Given the description of an element on the screen output the (x, y) to click on. 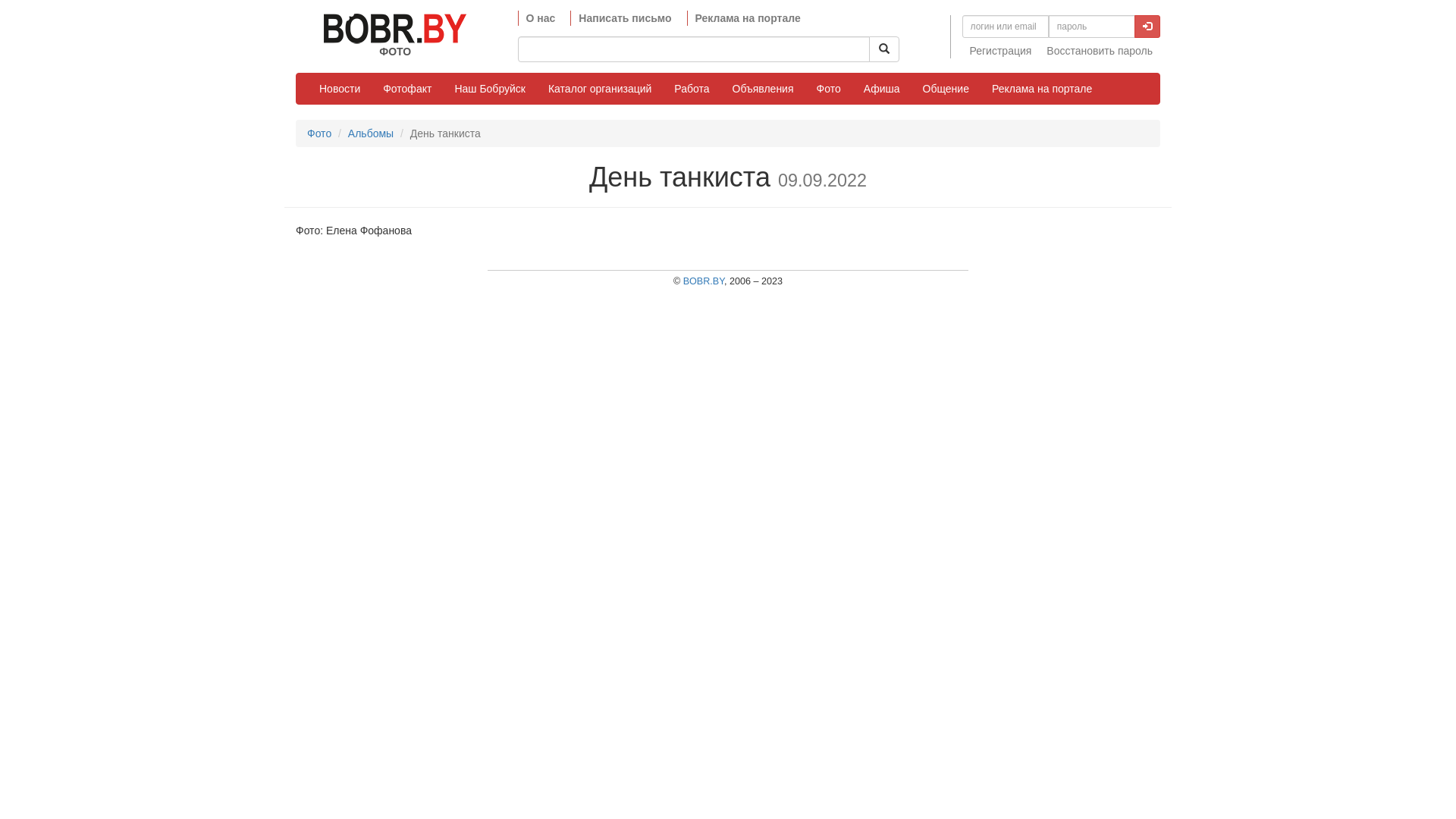
BOBR.BY Element type: text (703, 281)
